Given the description of an element on the screen output the (x, y) to click on. 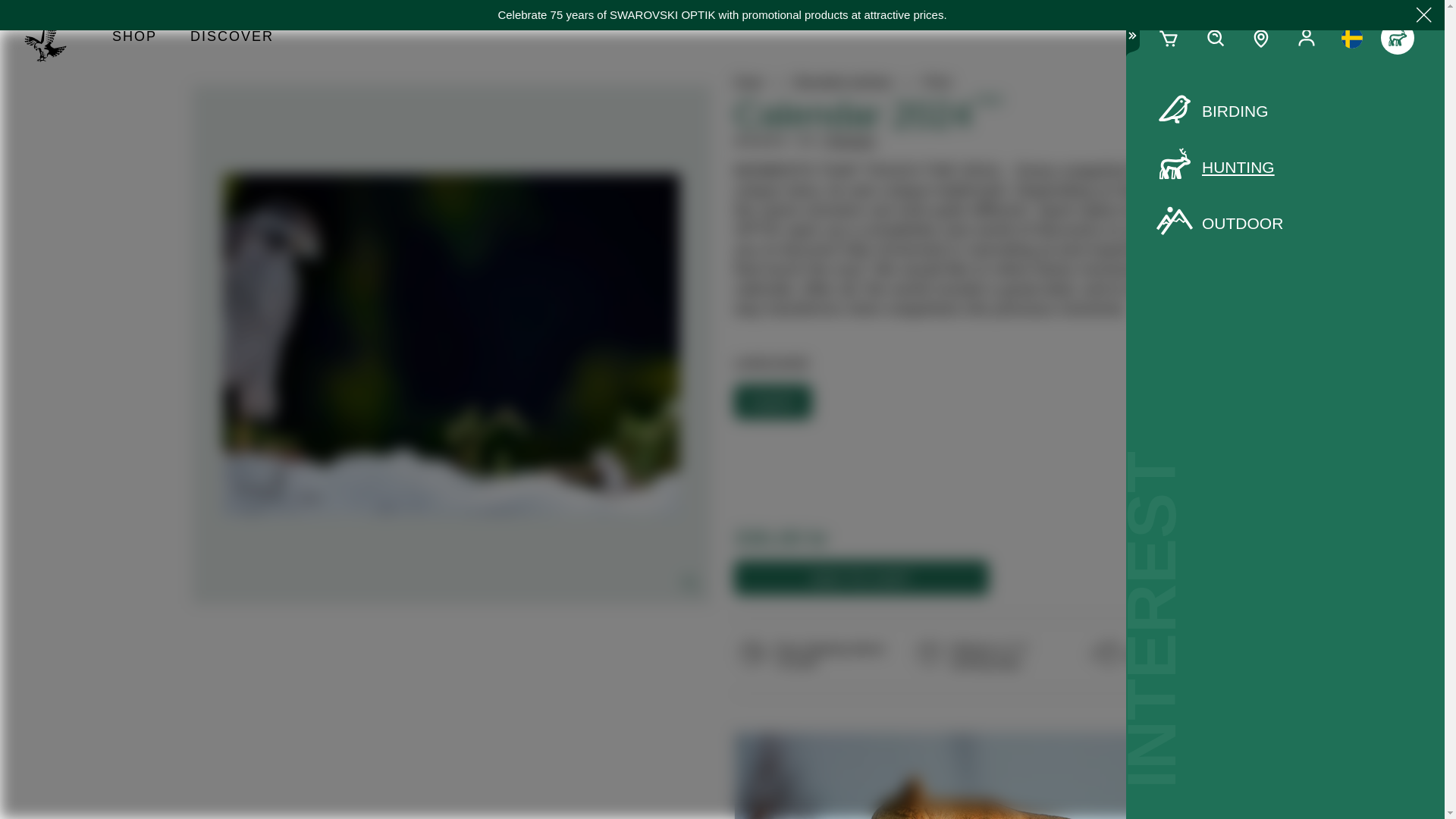
SHOP (134, 37)
DEALER LOCATOR (1261, 37)
COUNTRY (1351, 37)
Shop (134, 37)
BIRDING (1284, 110)
CART (1169, 37)
INTEREST (1397, 37)
ACCOUNT (1306, 37)
Swarovski Optik (51, 38)
OUTDOOR (1284, 223)
DISCOVER (231, 37)
SEARCH (1215, 37)
Discover (231, 37)
HUNTING (1284, 167)
